Given the description of an element on the screen output the (x, y) to click on. 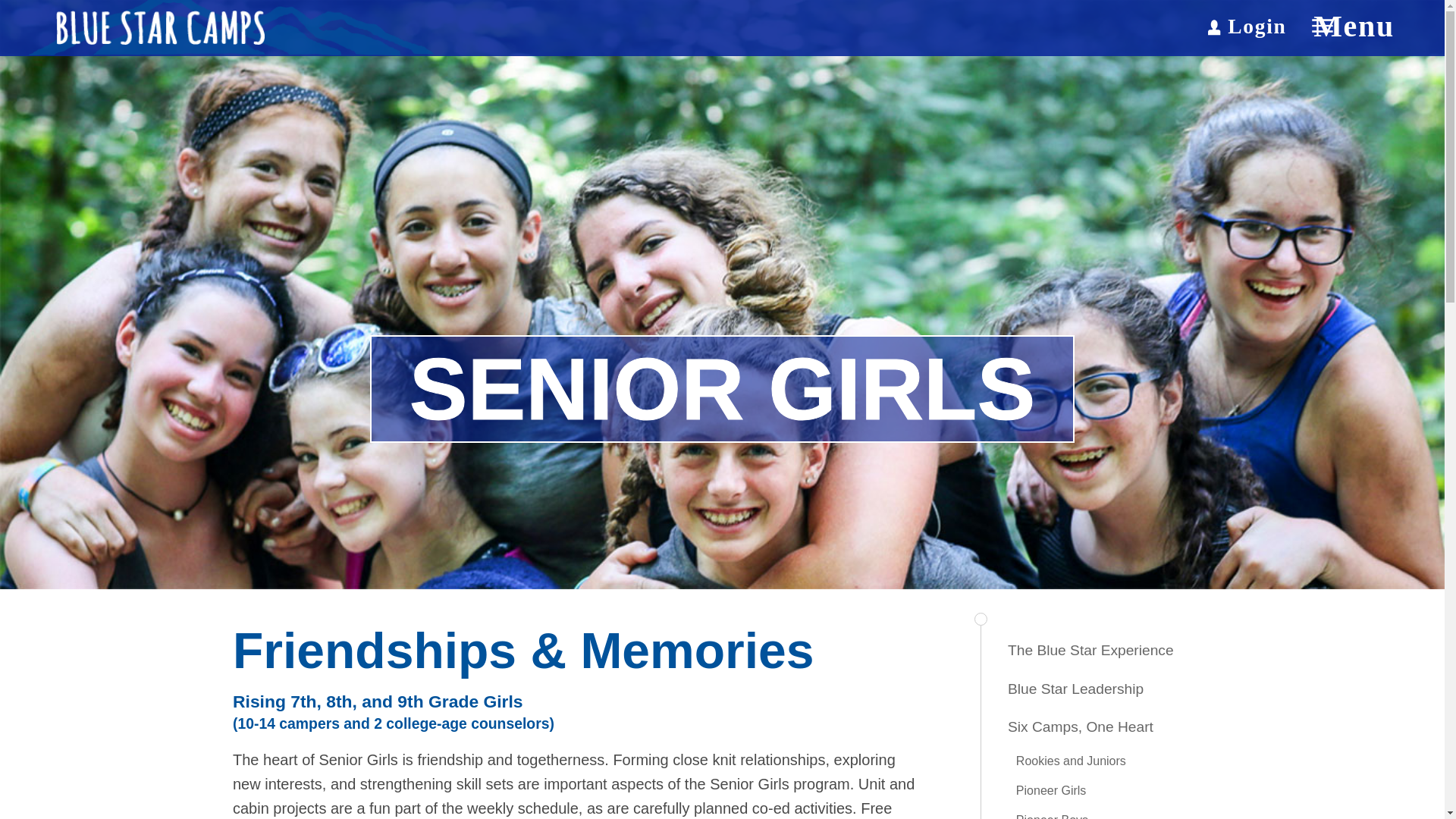
Blue Star Camps (237, 28)
Login (1251, 23)
Primary Menu (1344, 25)
